Given the description of an element on the screen output the (x, y) to click on. 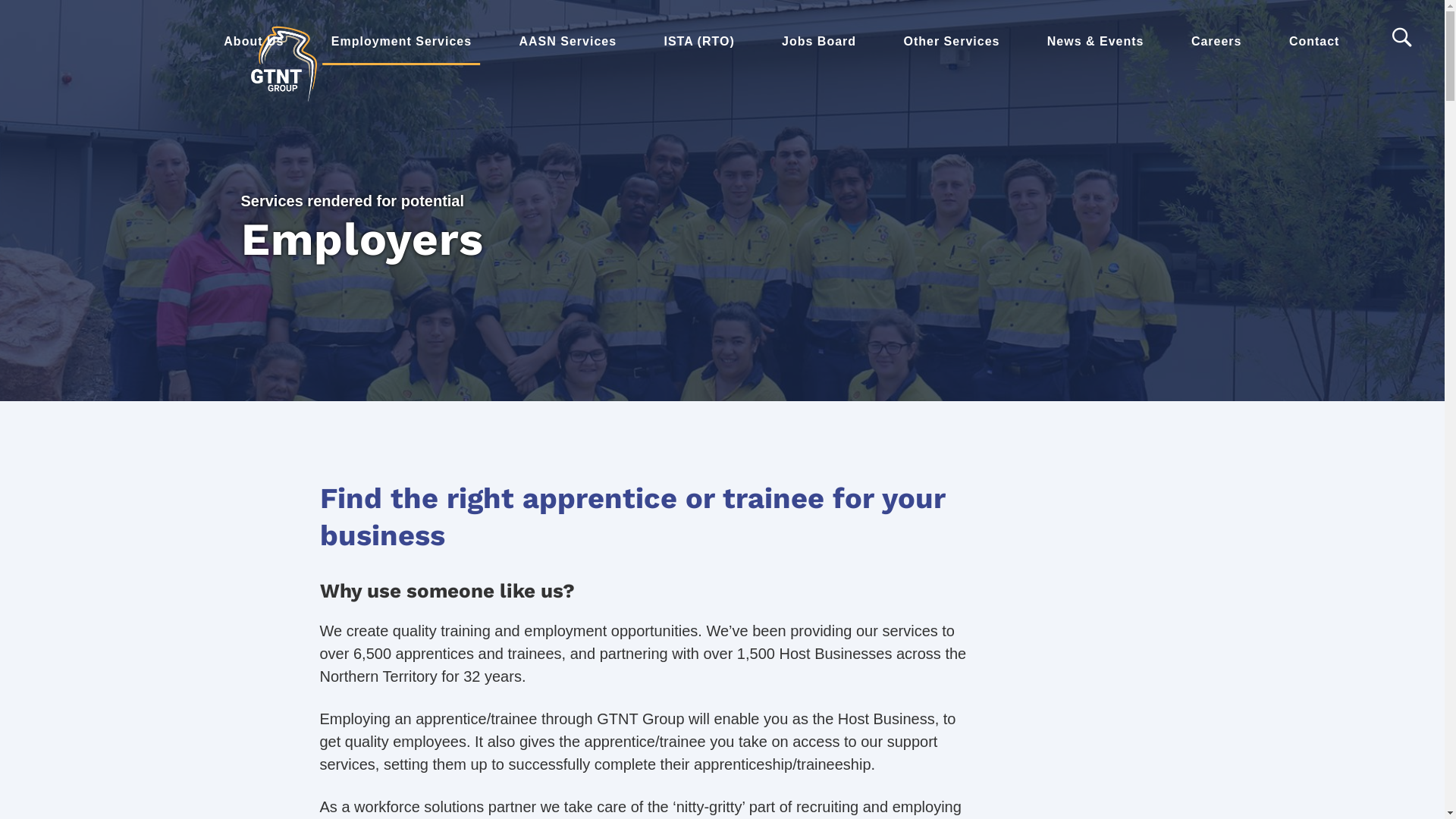
Other Services Element type: text (950, 41)
Jobs Board Element type: text (818, 41)
Contact Element type: text (1314, 41)
About Us Element type: text (253, 41)
Employment Services Element type: text (401, 41)
Search Element type: text (1403, 38)
Search Element type: text (62, 24)
Careers Element type: text (1216, 41)
ISTA (RTO) Element type: text (699, 41)
AASN Services Element type: text (567, 41)
News & Events Element type: text (1095, 41)
